Given the description of an element on the screen output the (x, y) to click on. 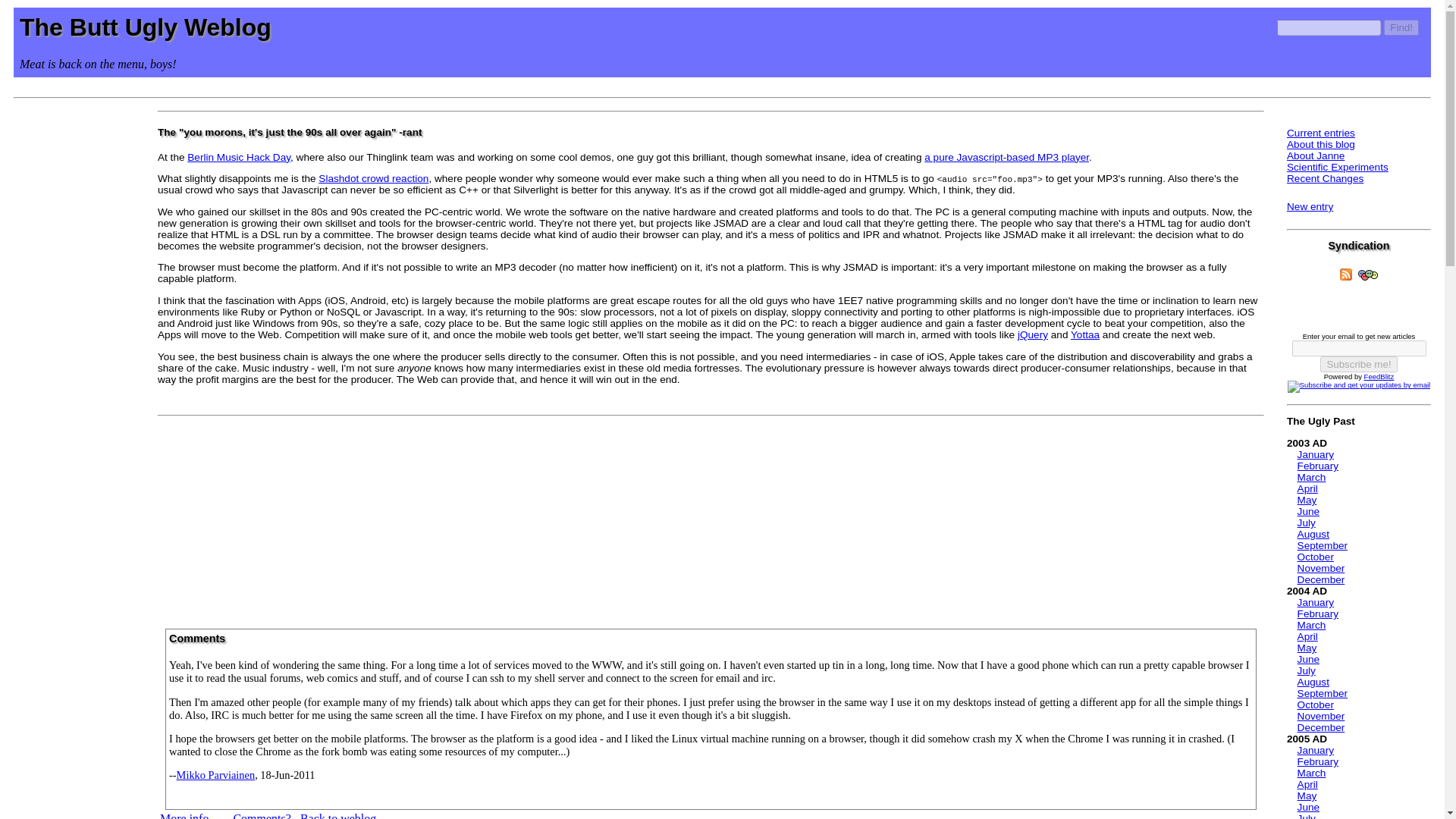
About this blog (1321, 143)
New entry (1310, 206)
Yottaa (1084, 334)
March (1311, 624)
More info... (188, 815)
July (1306, 522)
June (1308, 511)
August (1313, 533)
Advertisement (710, 516)
Scientific Experiments (1338, 166)
My FOAF description. (1367, 275)
FeedBlitz (1379, 376)
Subscribe and get your updates by email (1358, 386)
About Janne (1315, 155)
The Butt Ugly Weblog (145, 26)
